Given the description of an element on the screen output the (x, y) to click on. 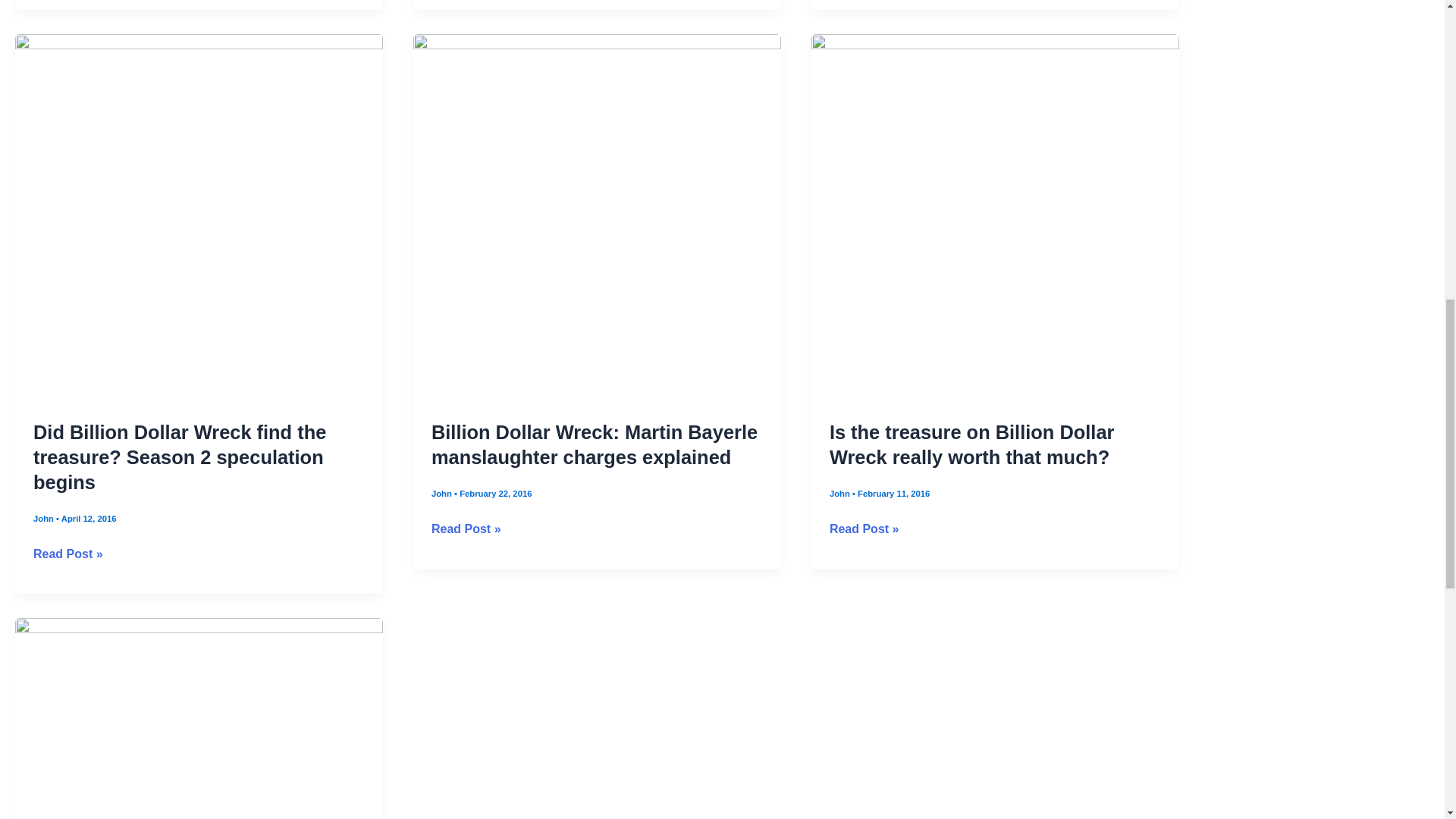
View all posts by John (44, 518)
View all posts by John (442, 492)
View all posts by John (840, 492)
